Given the description of an element on the screen output the (x, y) to click on. 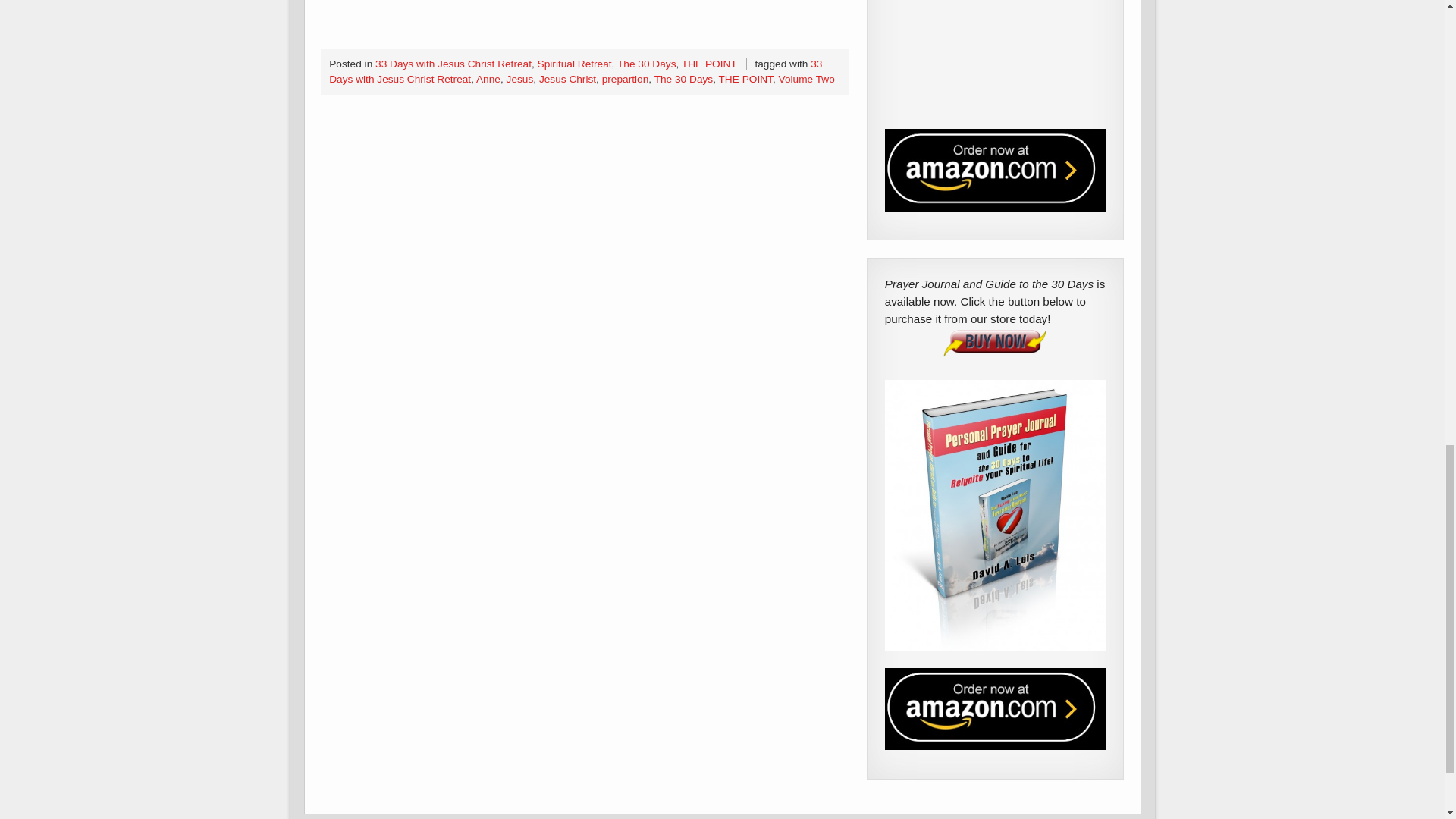
Jesus (520, 79)
Jesus Christ (566, 79)
Volume Two (806, 79)
The 30 Days (683, 79)
The 30 Days (647, 63)
THE POINT (708, 63)
Spiritual Retreat (574, 63)
THE POINT (746, 79)
prepartion (625, 79)
33 Days with Jesus Christ Retreat (453, 63)
